Given the description of an element on the screen output the (x, y) to click on. 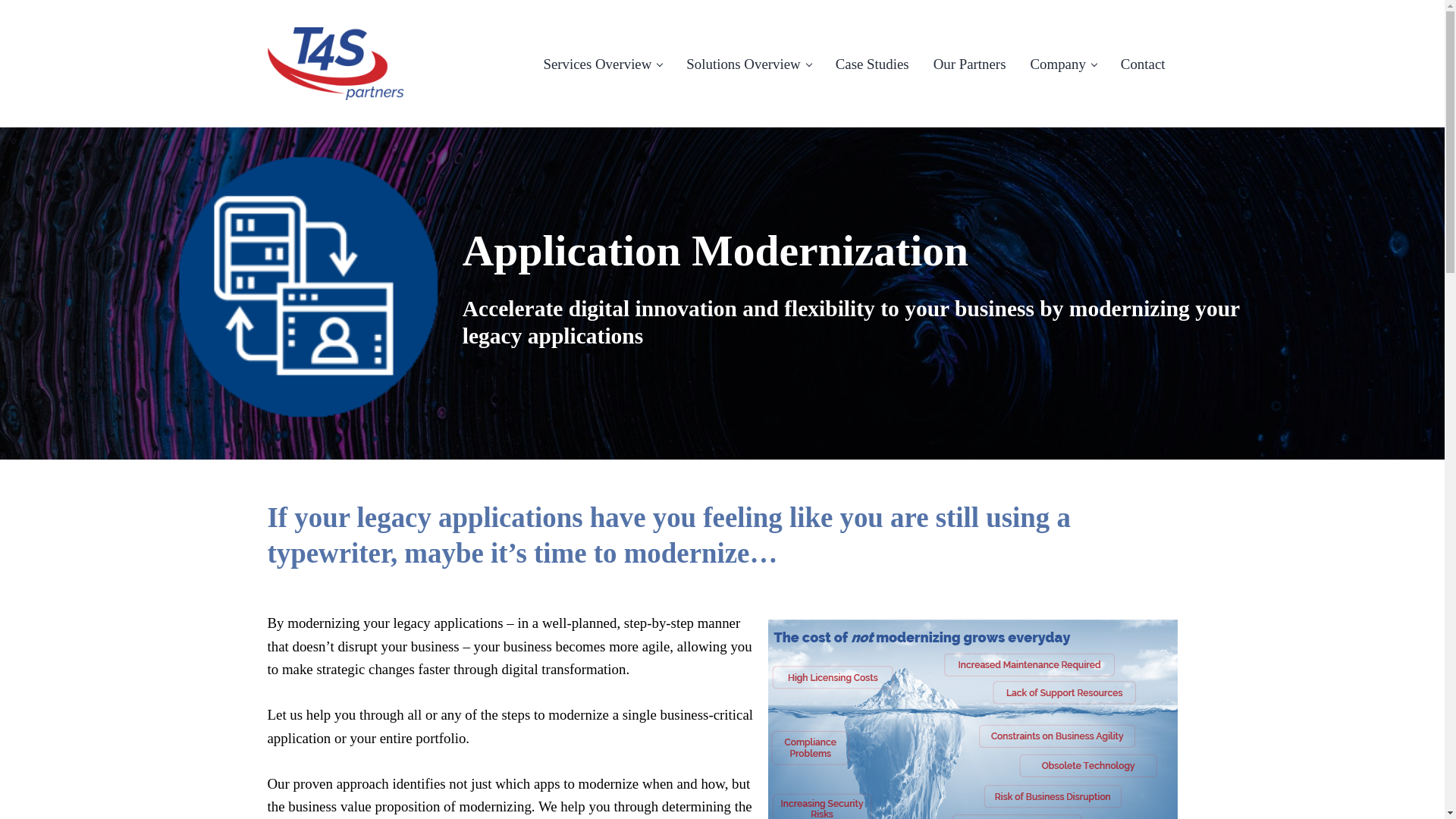
Services Overview (602, 64)
Solutions Overview (748, 64)
